Given the description of an element on the screen output the (x, y) to click on. 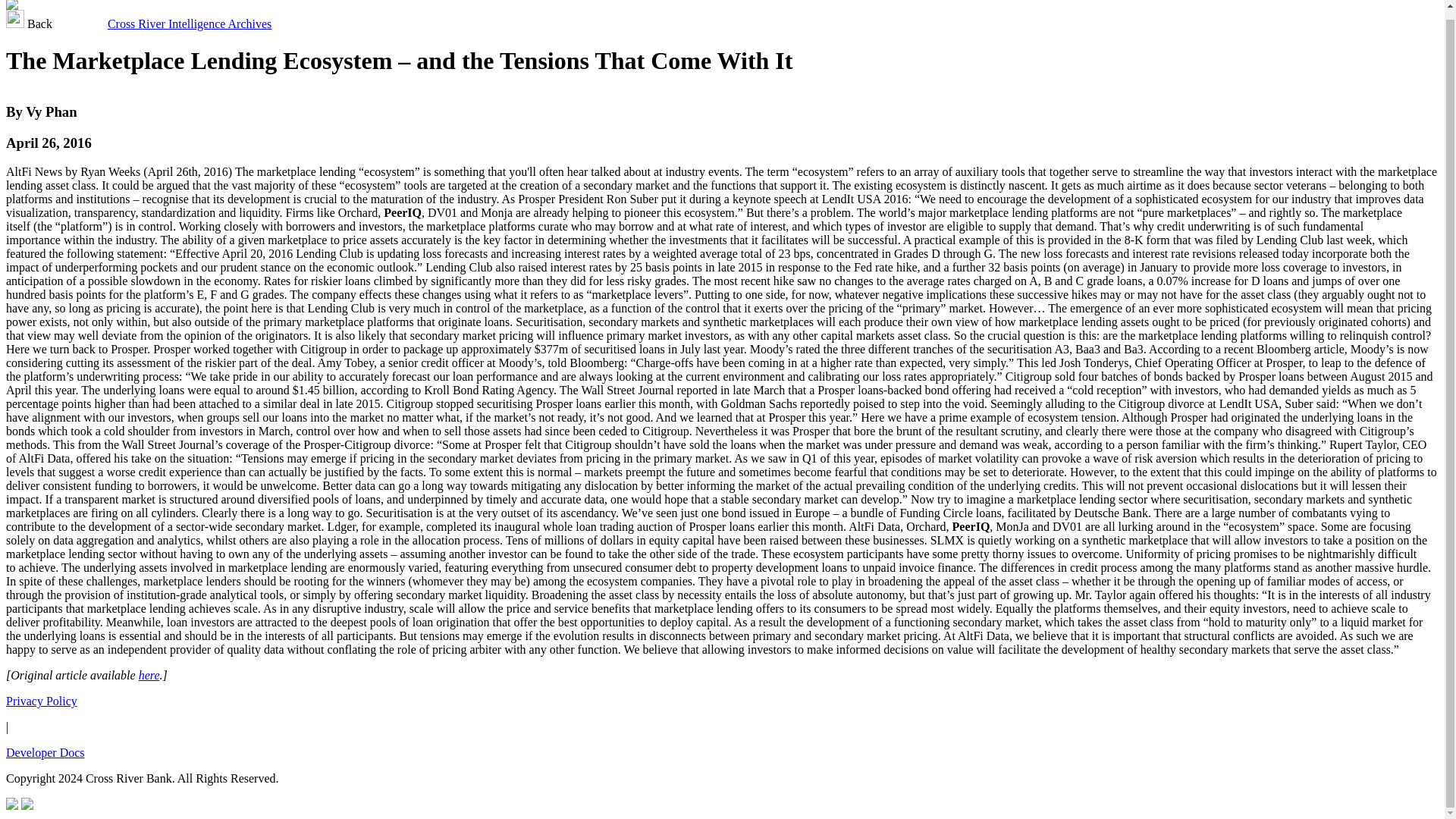
Cross River Intelligence Archives (188, 23)
Privacy Policy (41, 700)
Back (30, 23)
Developer Docs (44, 752)
here (149, 675)
